Given the description of an element on the screen output the (x, y) to click on. 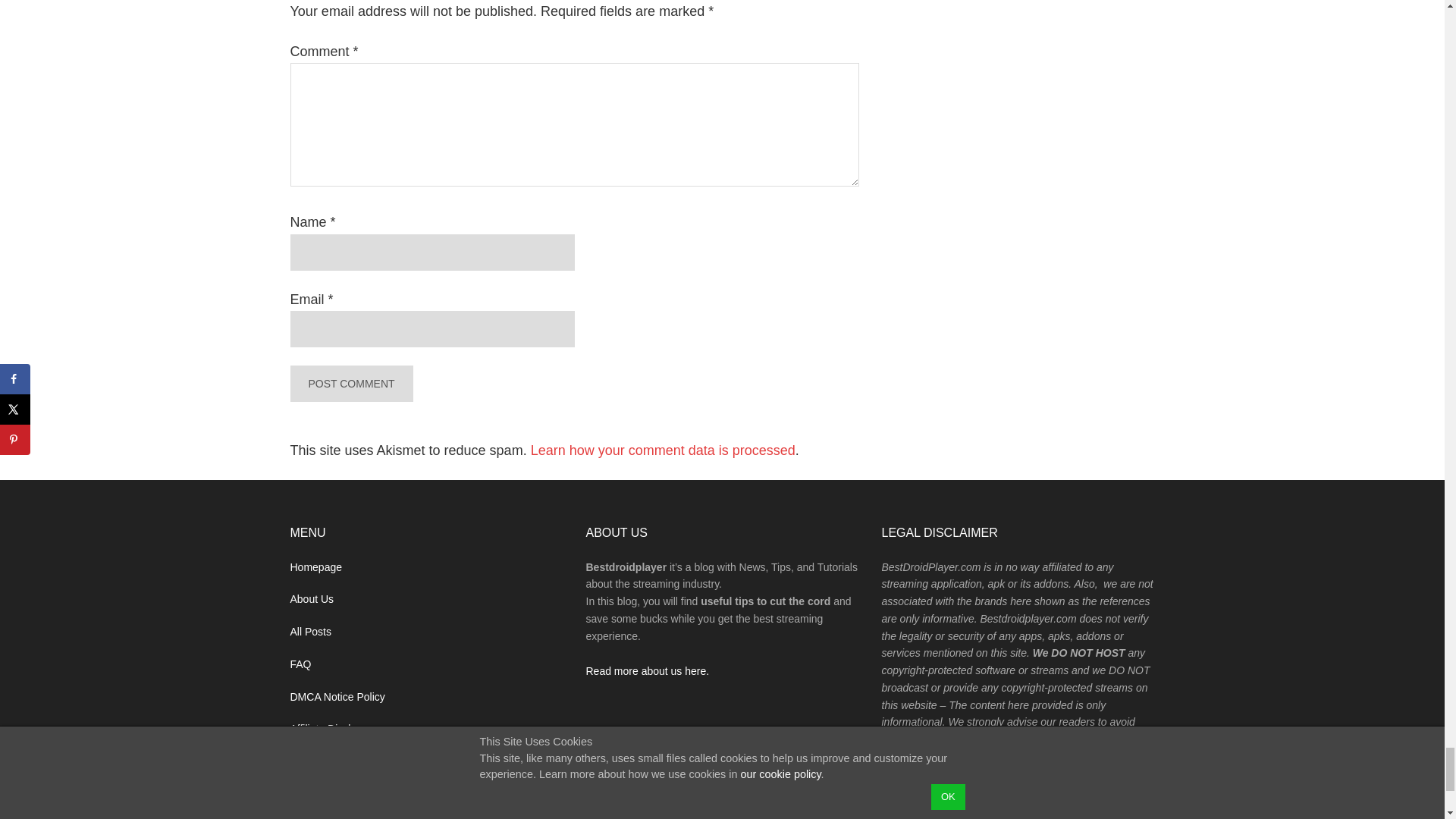
Post Comment (350, 383)
